Given the description of an element on the screen output the (x, y) to click on. 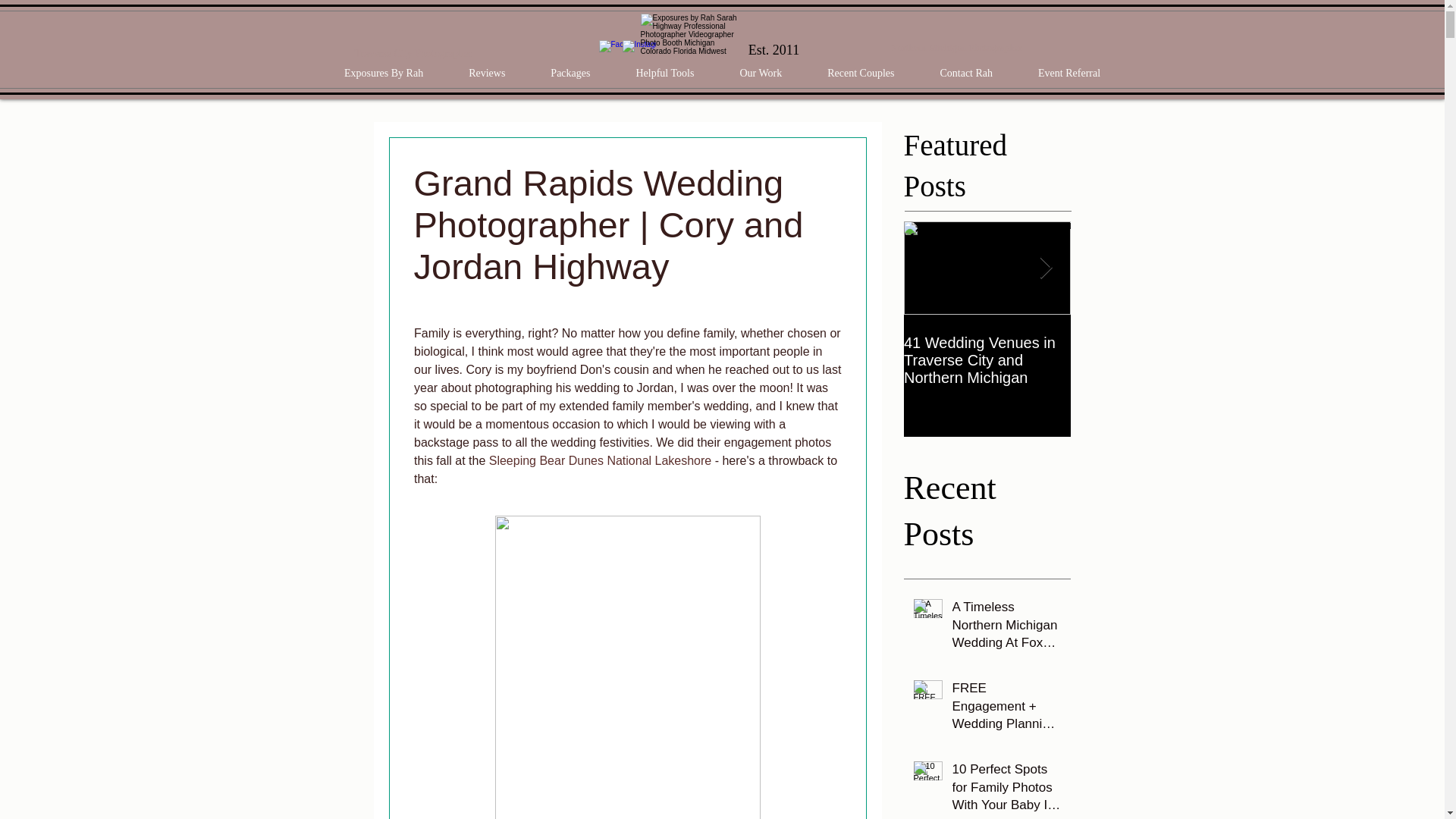
Reviews (486, 72)
Contact Rah (965, 72)
Event Referral (1069, 72)
Recent Couples (860, 72)
Sleeping Bear Dunes National Lakeshore  (600, 460)
Our Work (760, 72)
Packages (569, 72)
EBRLogo2017 copy.png (690, 35)
Helpful Tools (664, 72)
Exposures By Rah (383, 72)
